Given the description of an element on the screen output the (x, y) to click on. 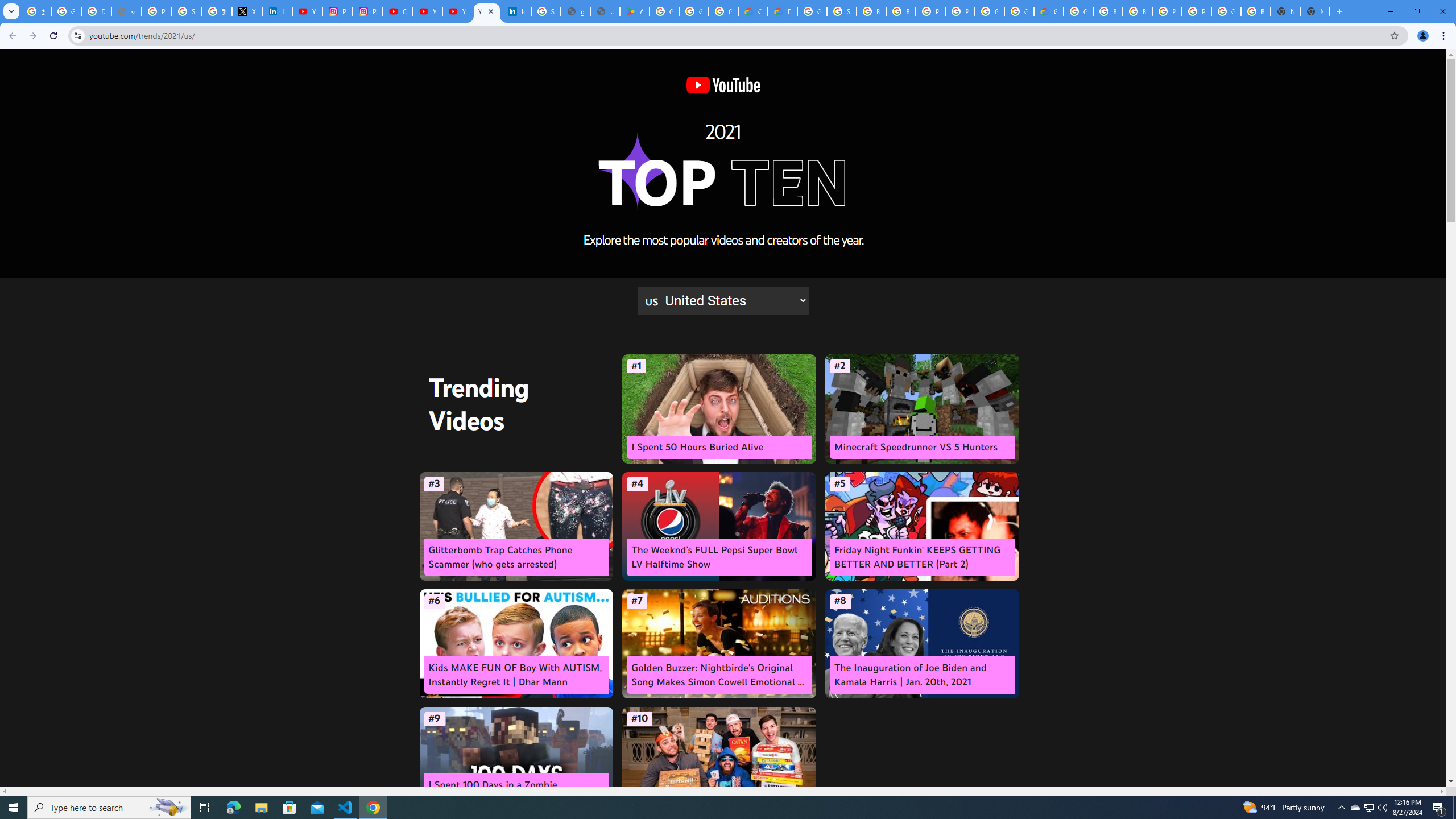
User Details (604, 11)
X (247, 11)
YouTube Culture & Trends - YouTube Top 10, 2021 (456, 11)
Google Cloud Estimate Summary (1048, 11)
Google Cloud Platform (1018, 11)
Android Apps on Google Play (634, 11)
